Given the description of an element on the screen output the (x, y) to click on. 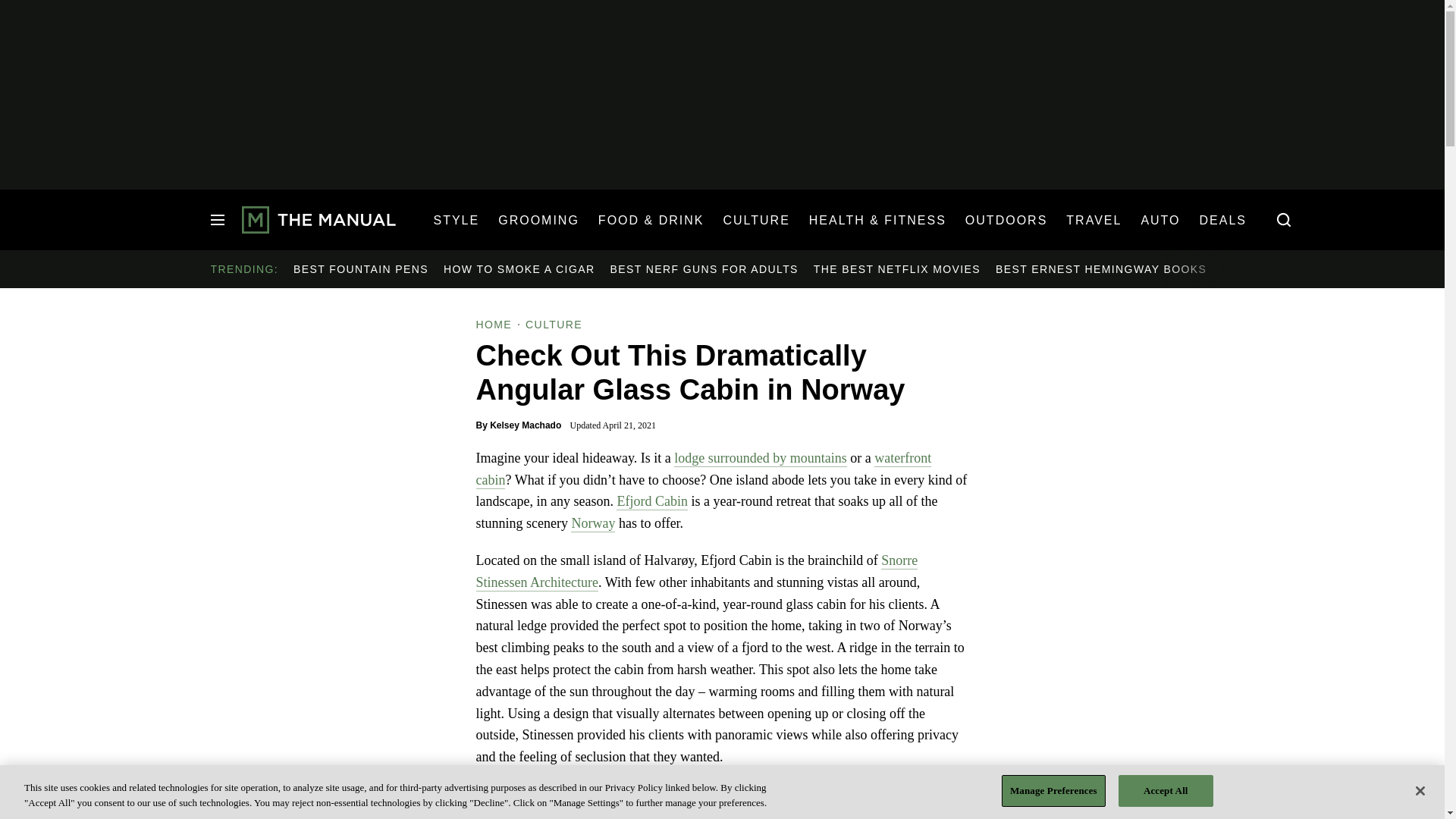
CULTURE (755, 219)
OUTDOORS (1005, 219)
TRAVEL (1093, 219)
GROOMING (538, 219)
